Given the description of an element on the screen output the (x, y) to click on. 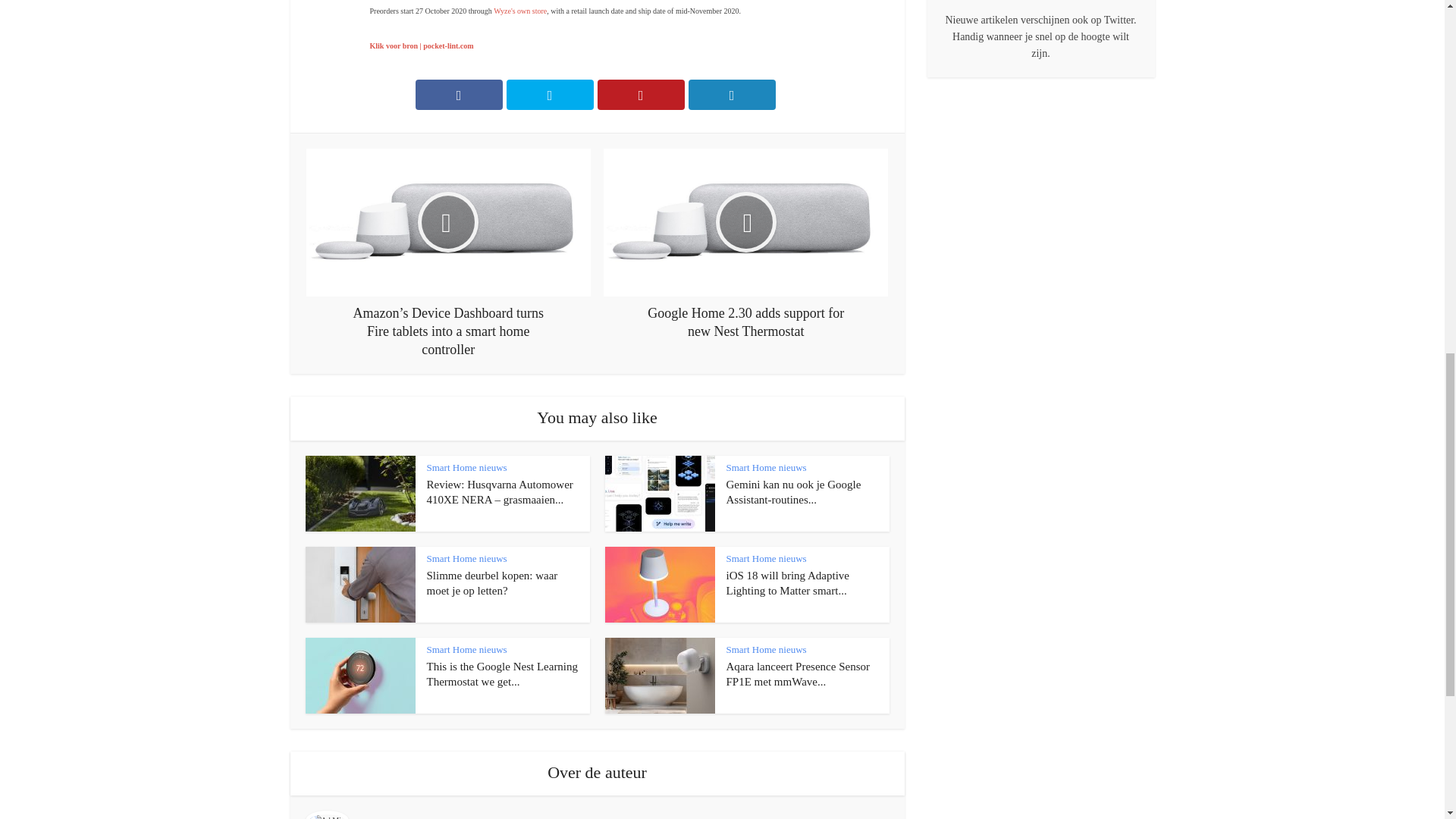
iOS 18 will bring Adaptive Lighting to Matter smart bulbs (788, 583)
Aqara lanceert Presence Sensor FP1E met mmWave-technologie (798, 673)
Gemini kan nu ook je Google Assistant-routines uitvoeren (793, 492)
Smart Home nieuws (466, 467)
Slimme deurbel kopen: waar moet je op letten? (491, 583)
Google Home 2.30 adds support for new Nest Thermostat (746, 244)
Wyze's own store (520, 10)
